Given the description of an element on the screen output the (x, y) to click on. 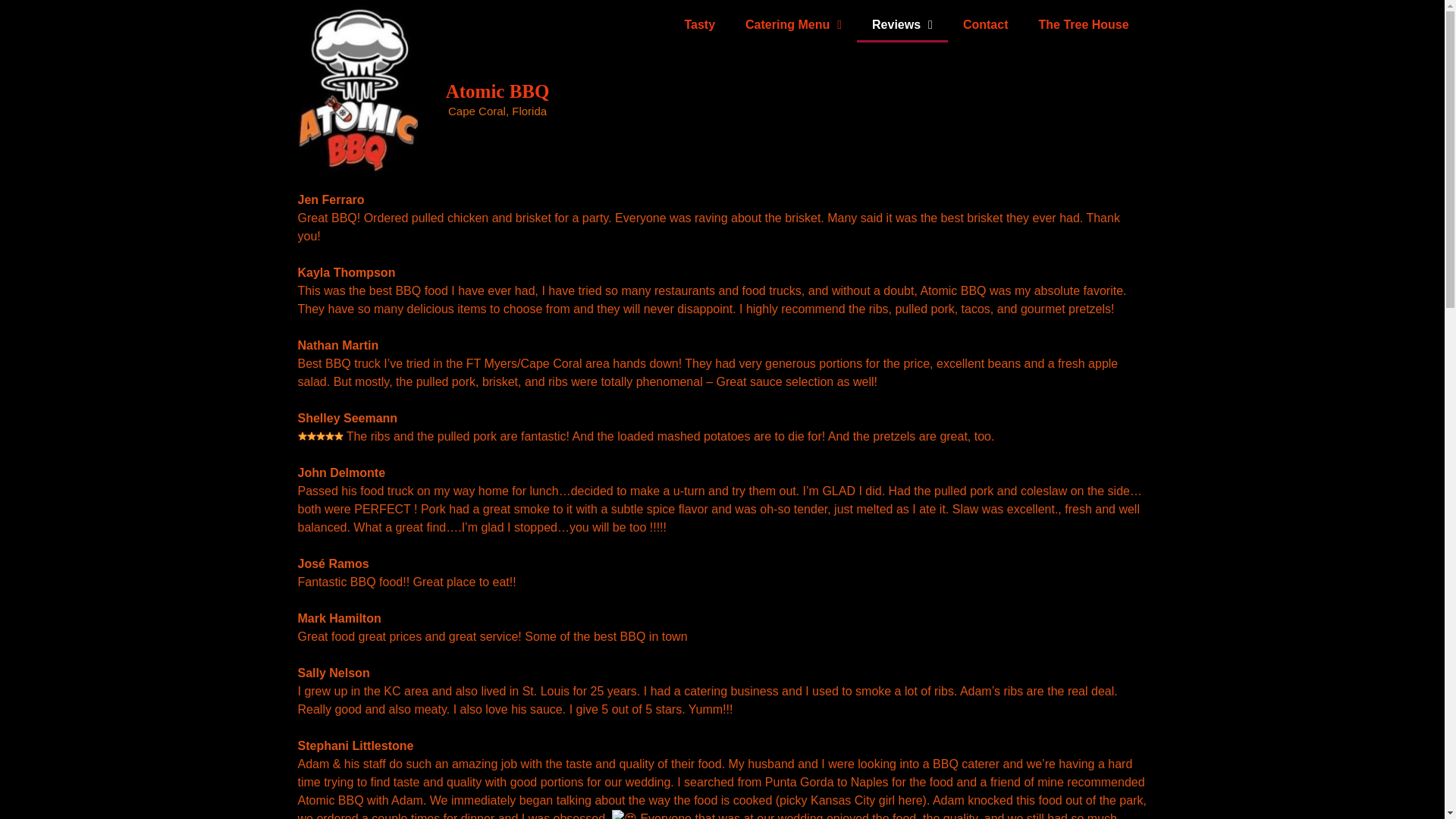
Contact (985, 24)
Tasty (699, 24)
Atomic BBQ (497, 91)
The Tree House (1082, 24)
Catering Menu (793, 24)
Reviews (902, 24)
